Given the description of an element on the screen output the (x, y) to click on. 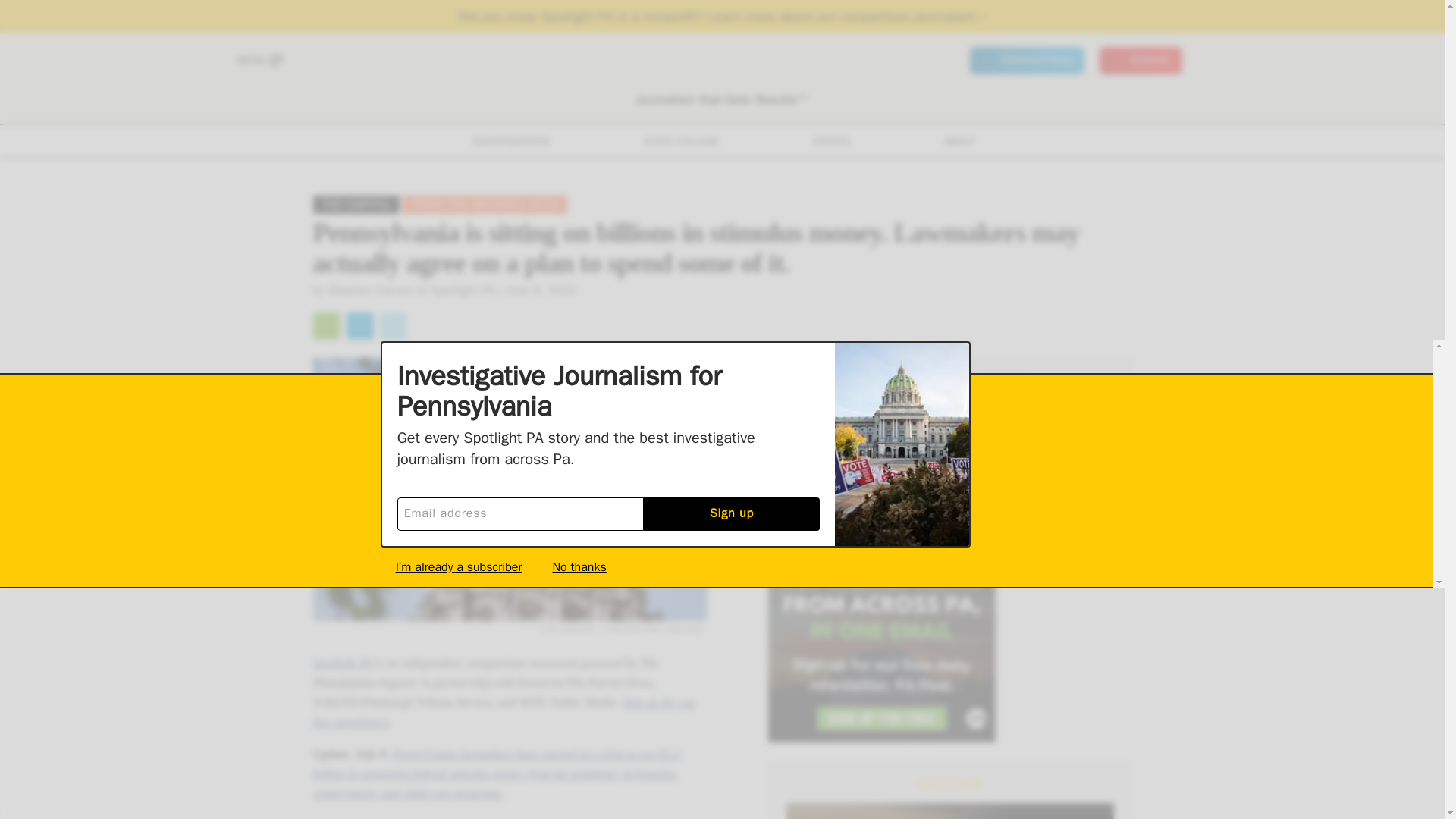
Share this page by email (326, 325)
MENU (259, 60)
Tweet about this page (392, 325)
A sticker proclaiming "I voted" in a Pennsylvania election. (949, 811)
Share this page on Facebook (359, 325)
